Given the description of an element on the screen output the (x, y) to click on. 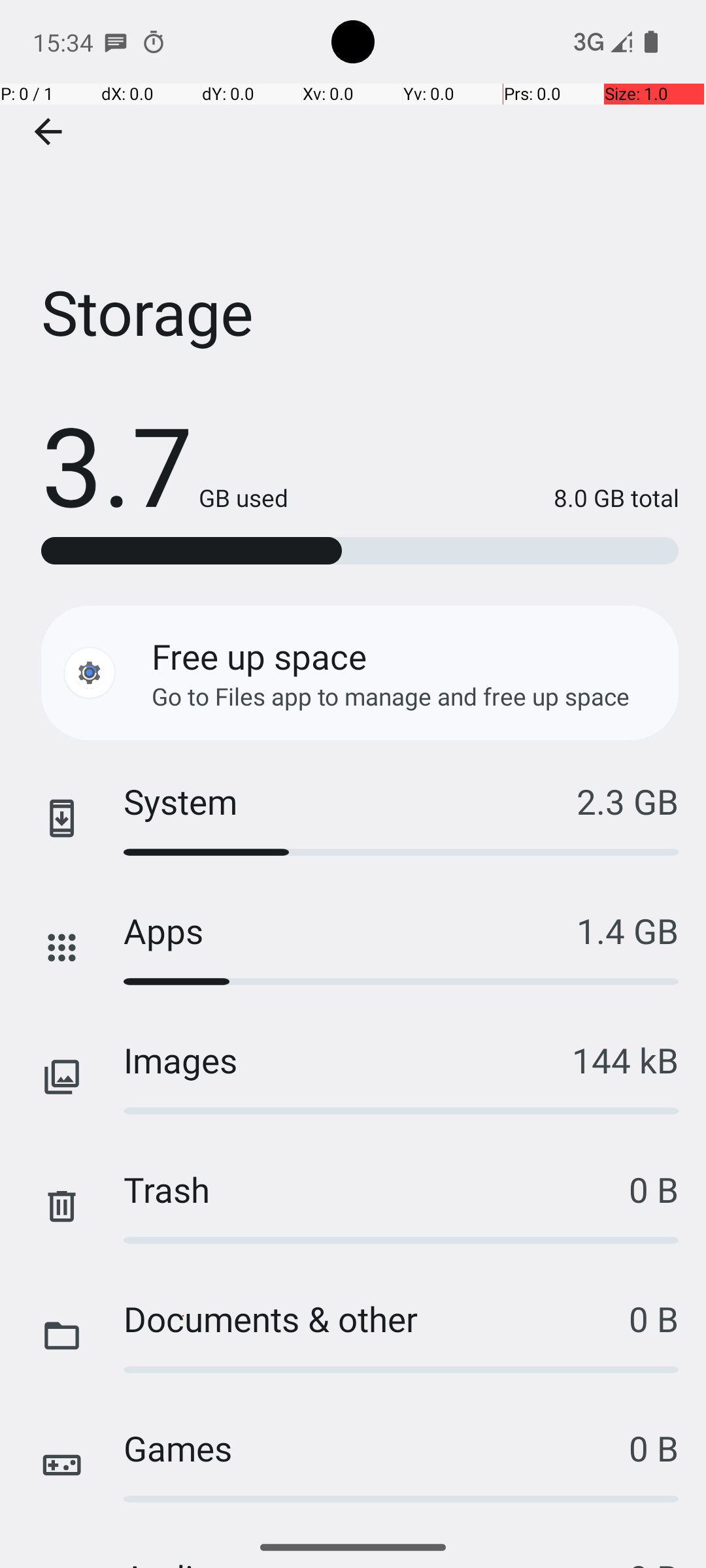
3.7 GB used Element type: android.widget.TextView (164, 463)
144 kB Element type: android.widget.TextView (624, 1059)
